Given the description of an element on the screen output the (x, y) to click on. 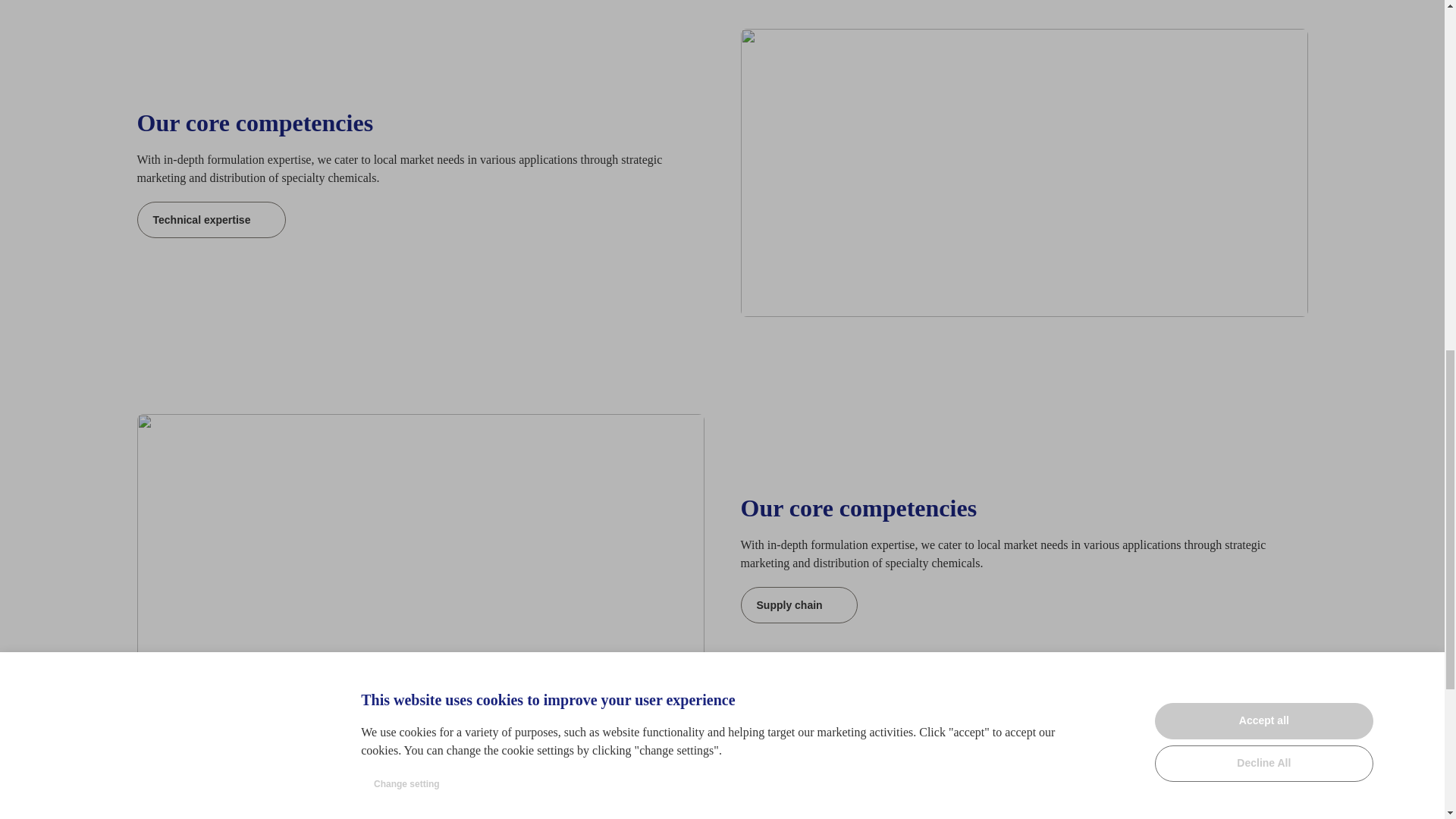
Supply chain (798, 605)
France (158, 805)
Technical expertise (210, 219)
Open Dropdown (225, 804)
